Given the description of an element on the screen output the (x, y) to click on. 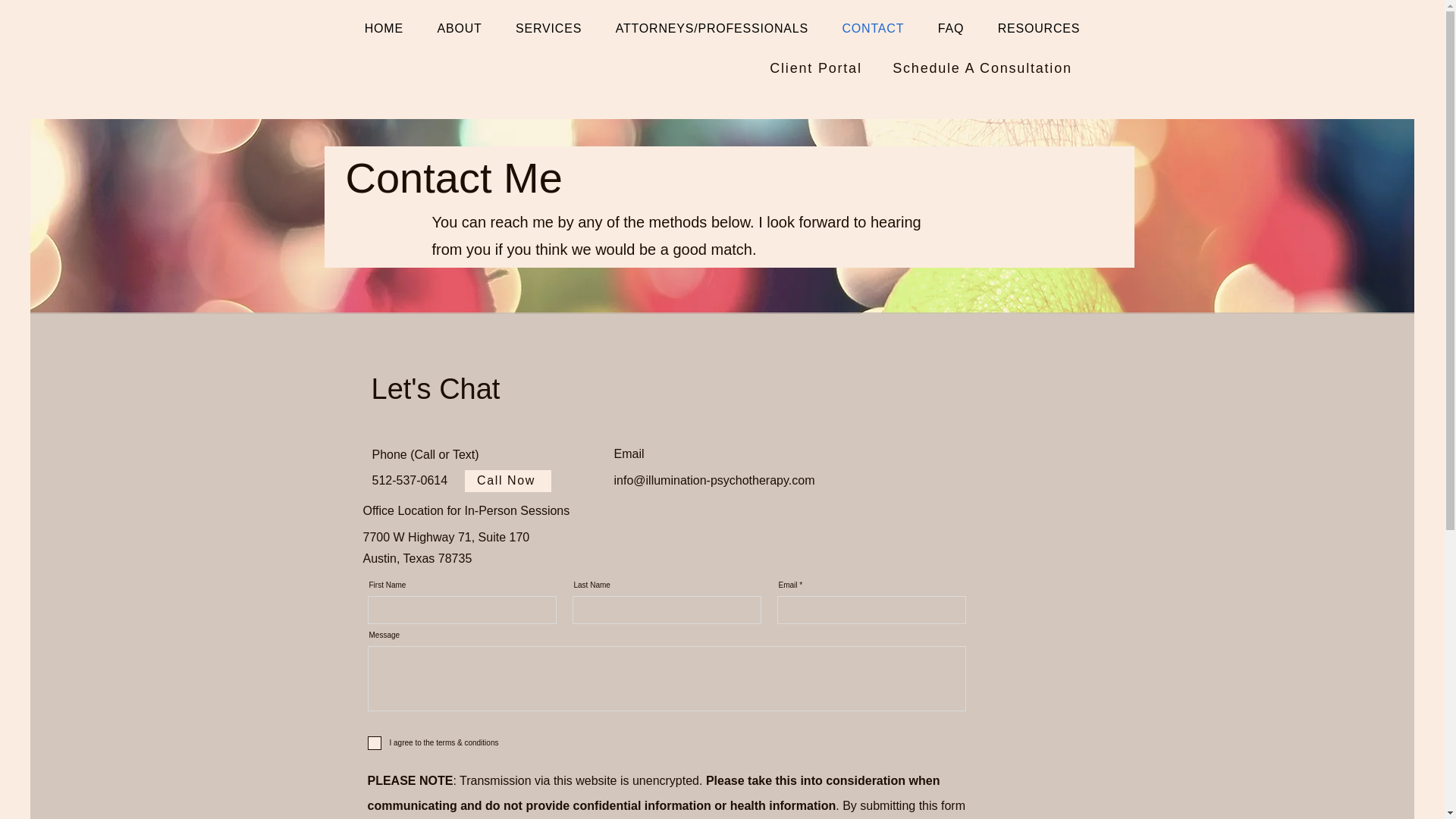
RESOURCES (1038, 28)
CONTACT (872, 28)
Schedule A Consultation (983, 67)
SERVICES (548, 28)
ABOUT (459, 28)
Client Portal (817, 67)
FAQ (949, 28)
Call Now (507, 481)
HOME (383, 28)
